Given the description of an element on the screen output the (x, y) to click on. 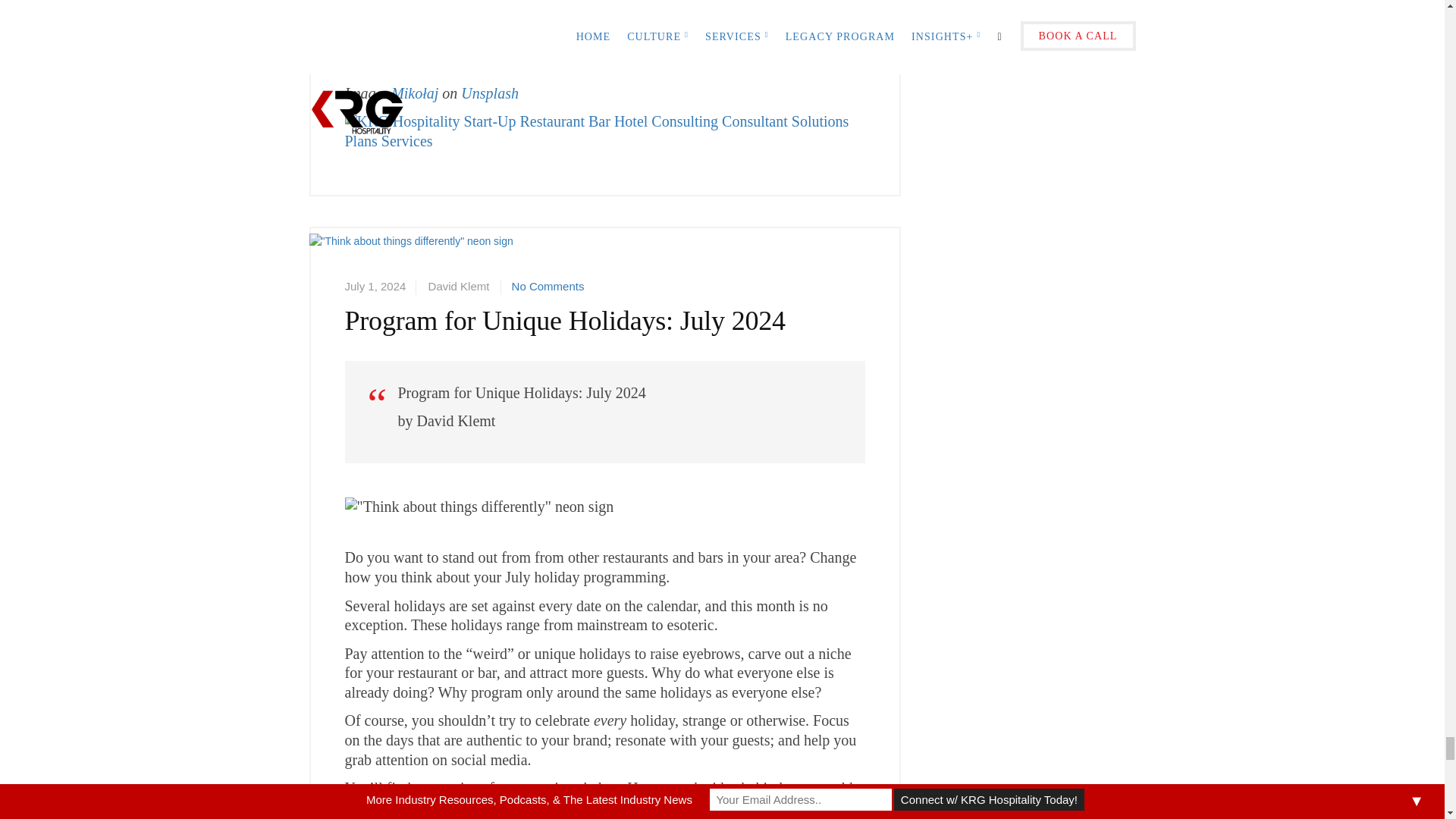
Program for Unique Holidays: July 2024 (410, 269)
